Given the description of an element on the screen output the (x, y) to click on. 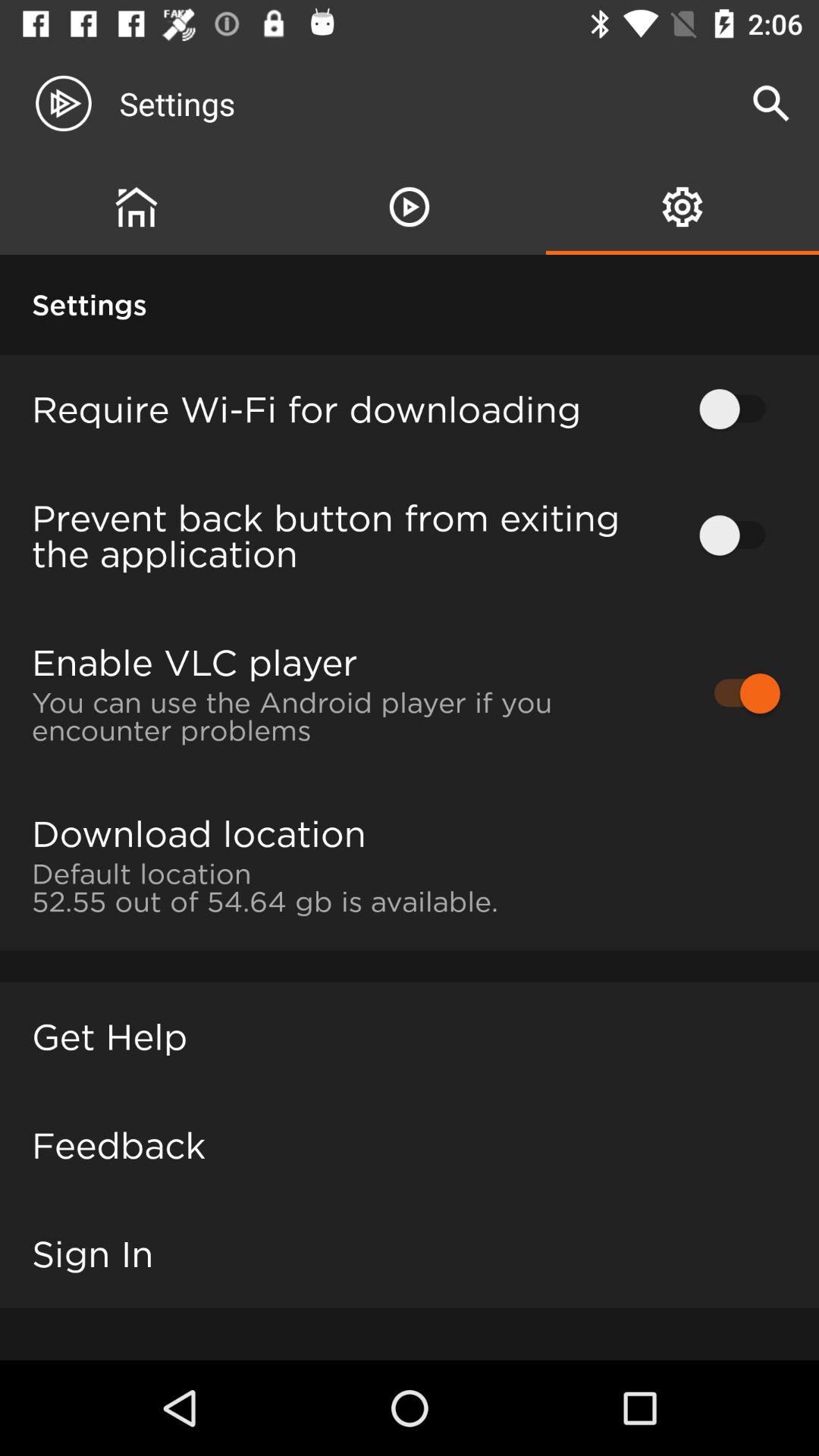
click on the search icon on the top right corner (771, 103)
select the icon which is to the right of the pause icon (682, 206)
click on the button which is beside the require wifi for downloading (739, 408)
click on the icon left to the settings (75, 103)
